Given the description of an element on the screen output the (x, y) to click on. 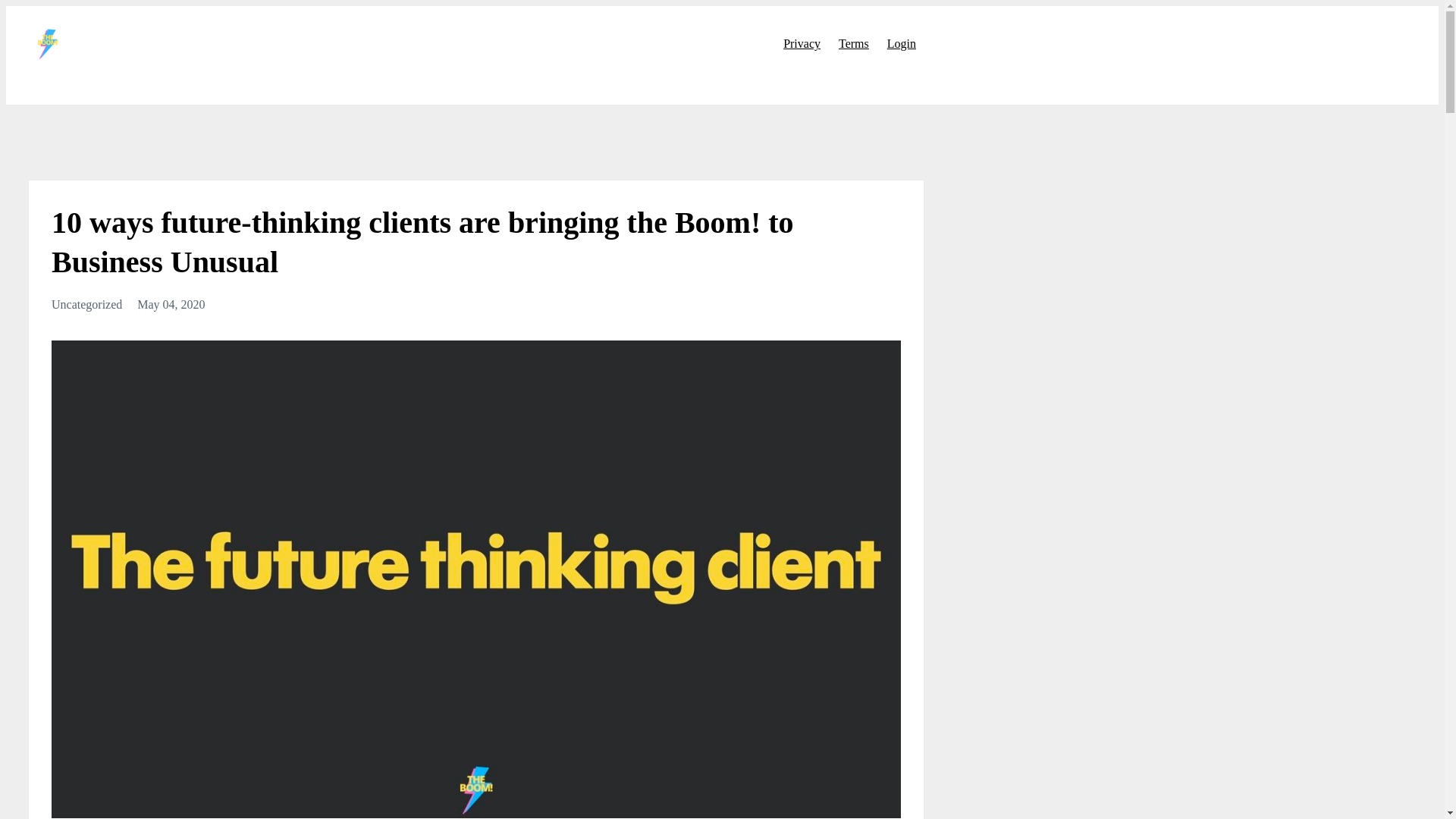
Privacy (802, 43)
Login (900, 43)
Terms (853, 43)
